Given the description of an element on the screen output the (x, y) to click on. 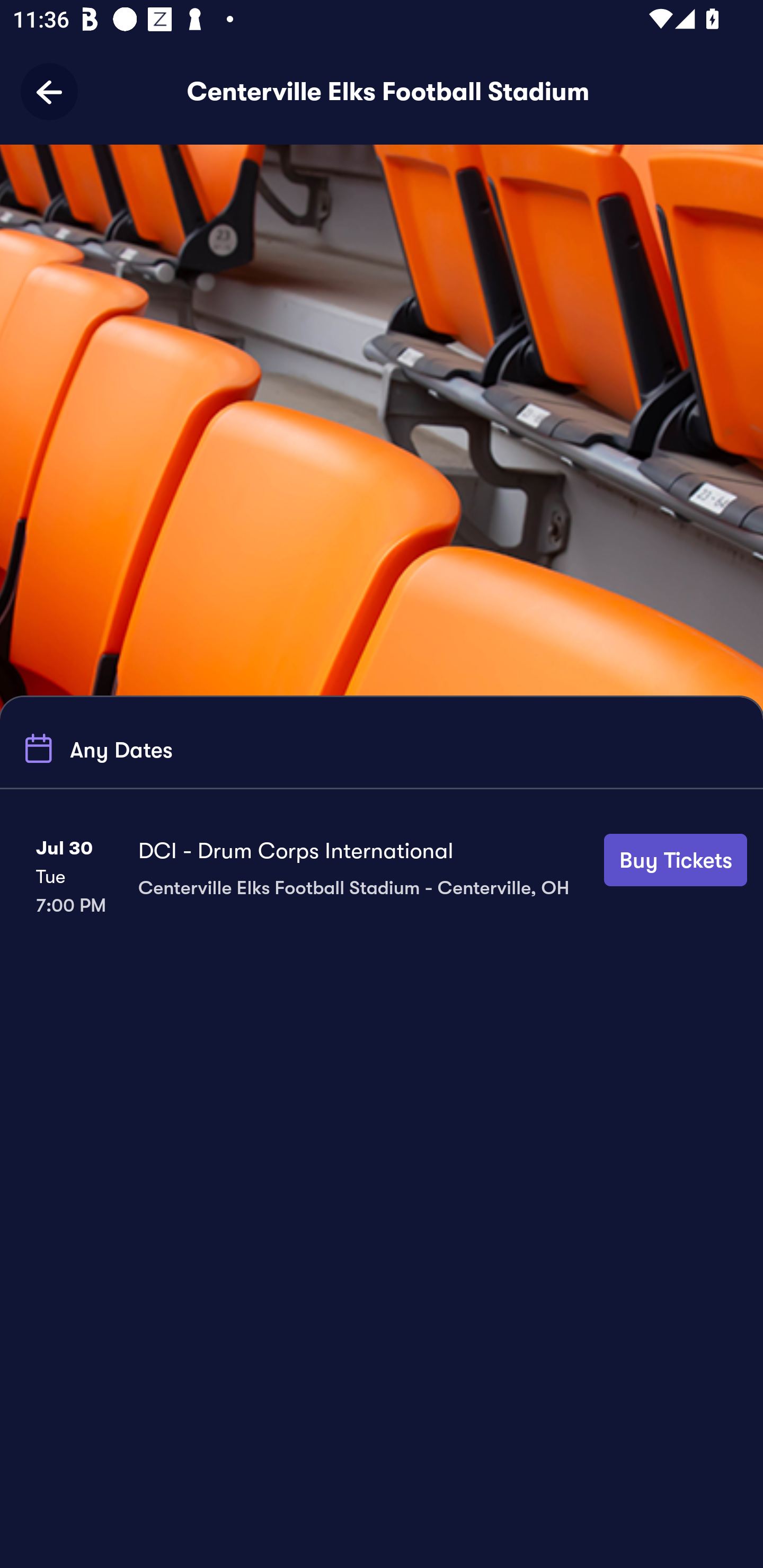
Any Dates (95, 749)
